Given the description of an element on the screen output the (x, y) to click on. 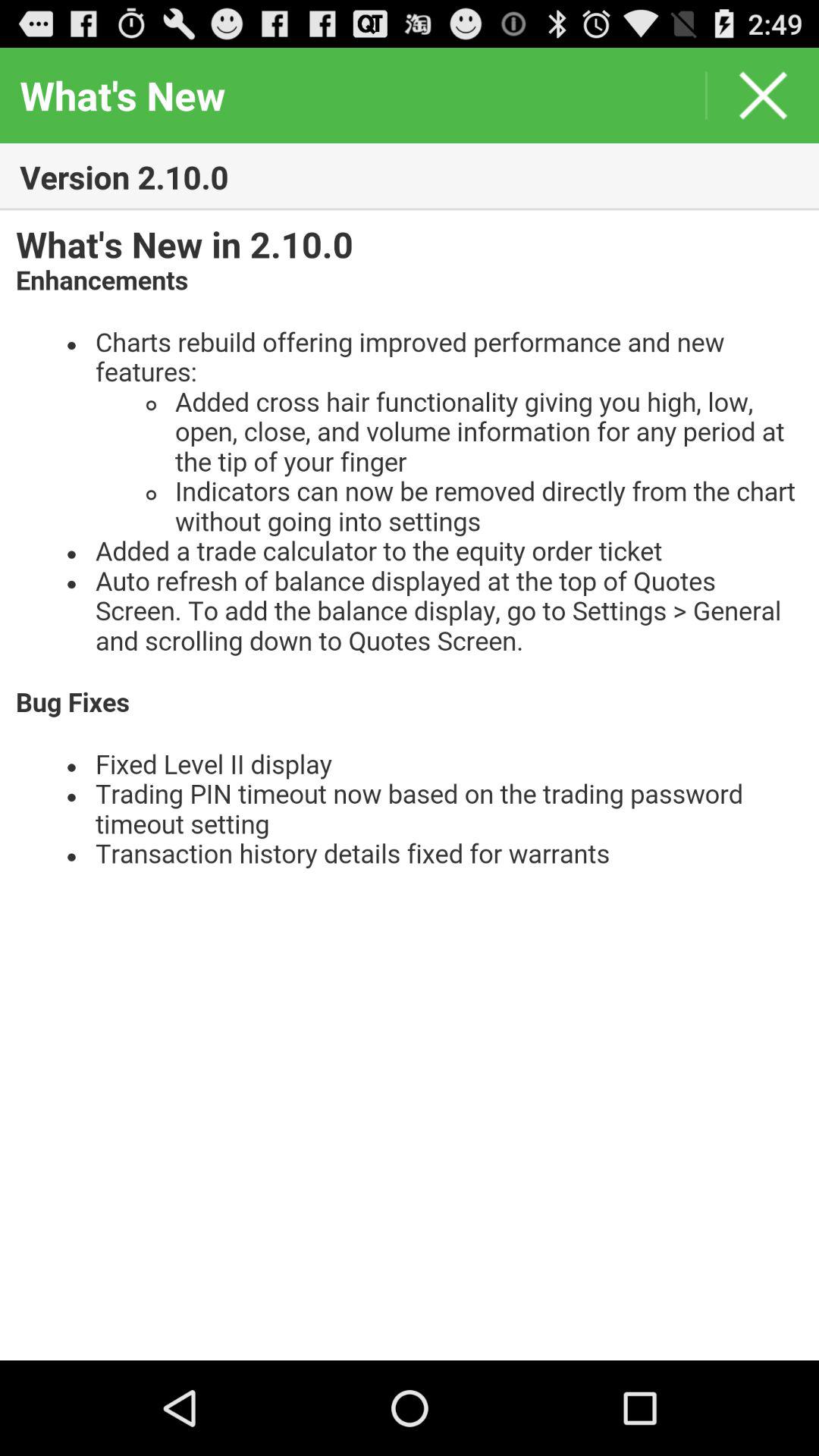
close window (763, 95)
